Given the description of an element on the screen output the (x, y) to click on. 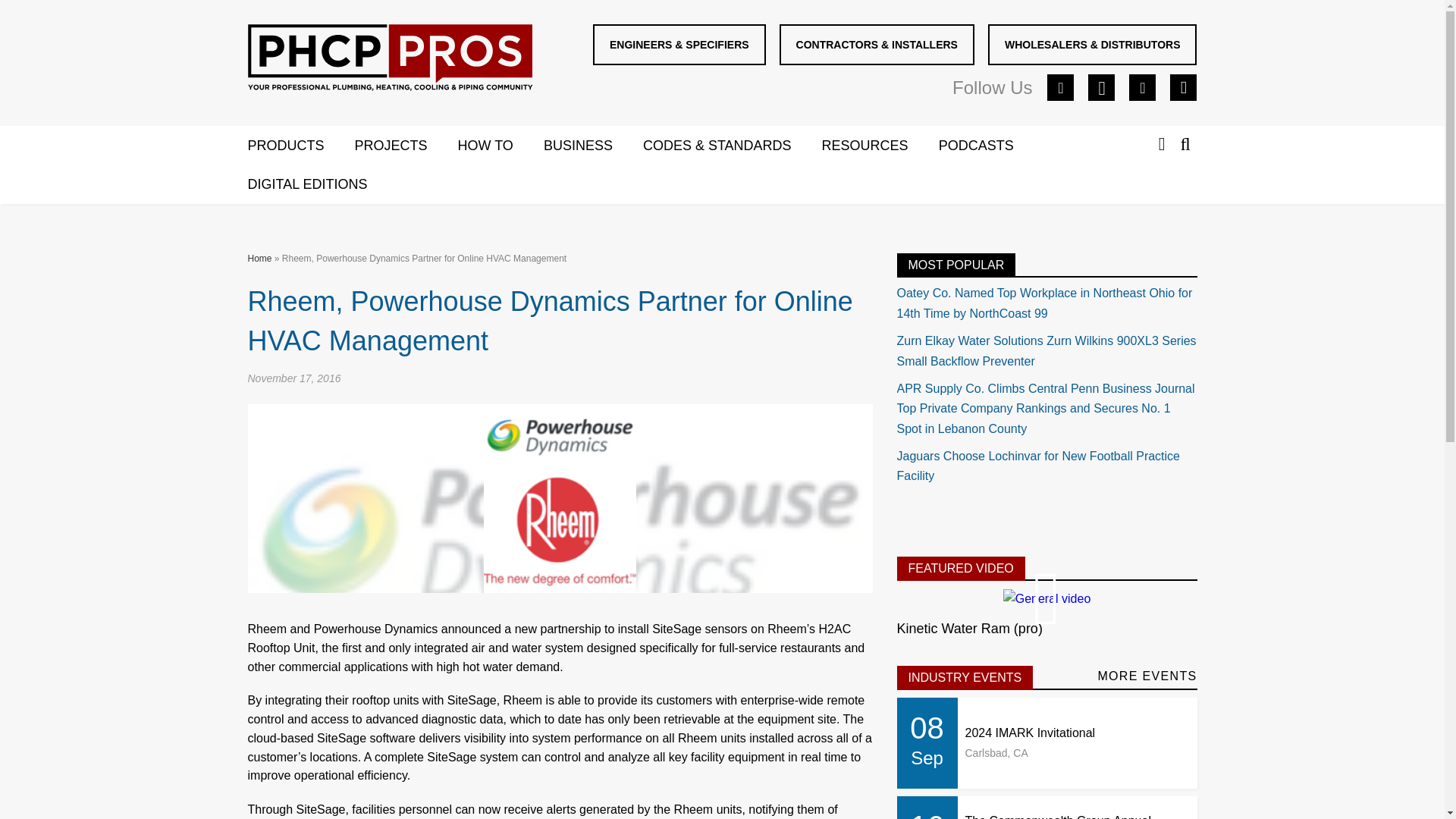
HOW TO (500, 146)
PROJECTS (406, 146)
PRODUCTS (300, 146)
logo (389, 60)
logo (389, 57)
BUSINESS (593, 146)
